Given the description of an element on the screen output the (x, y) to click on. 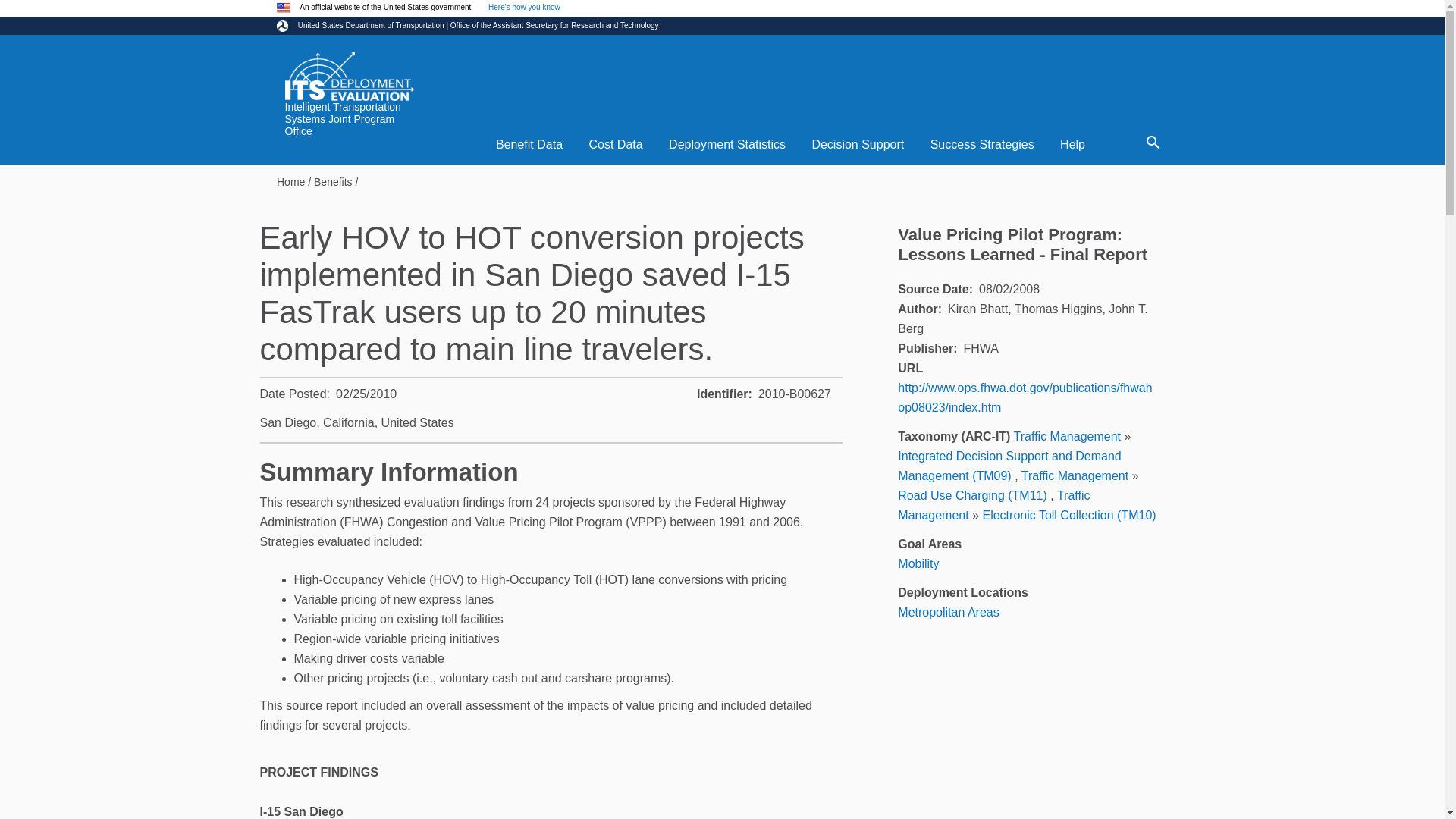
Decision Support (857, 144)
Home (349, 76)
Success Strategies (981, 144)
Deployment Statistics (727, 144)
Cost Data (615, 144)
click to toggle (523, 7)
Intelligent Transportation Systems Joint Program Office (353, 126)
Costs (615, 144)
Benefit Data (529, 144)
Help (1071, 144)
